Given the description of an element on the screen output the (x, y) to click on. 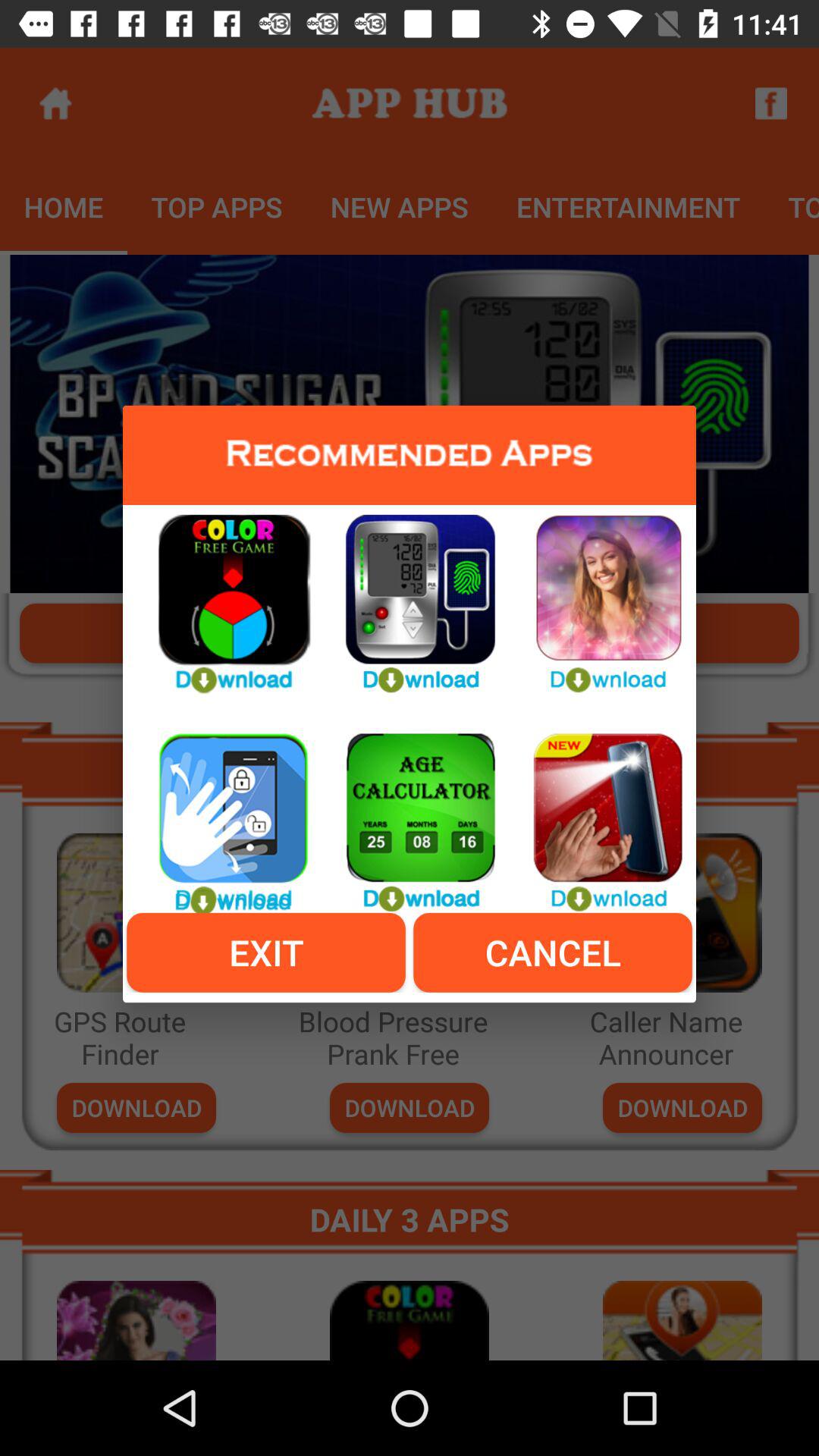
to calculate (409, 813)
